Given the description of an element on the screen output the (x, y) to click on. 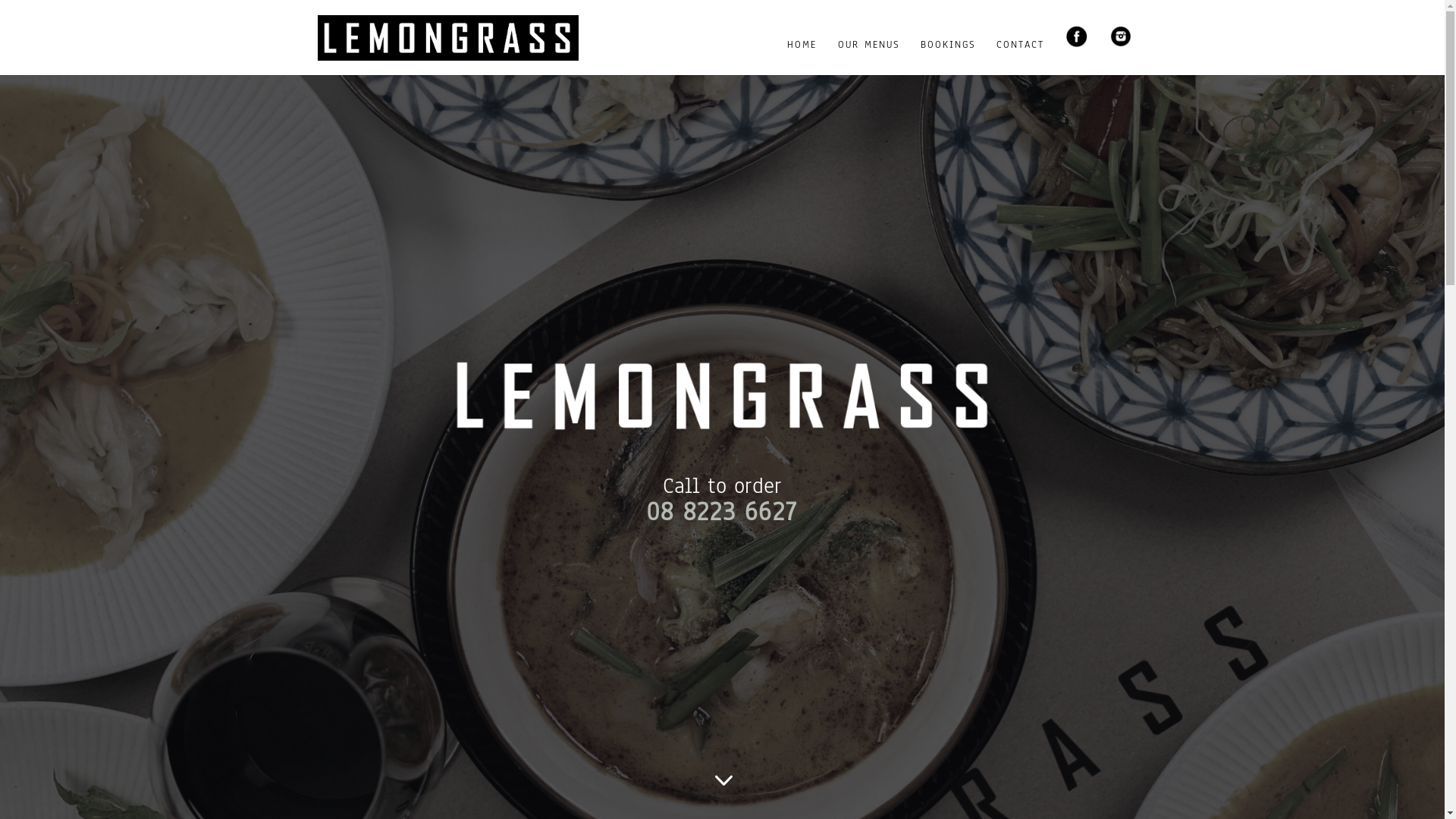
3 Element type: text (722, 781)
  Element type: text (797, 517)
08 8223 6627 Element type: text (721, 511)
BOOKINGS Element type: text (947, 54)
CONTACT Element type: text (1020, 54)
OUR MENUS Element type: text (867, 54)
HOME Element type: text (801, 54)
